Given the description of an element on the screen output the (x, y) to click on. 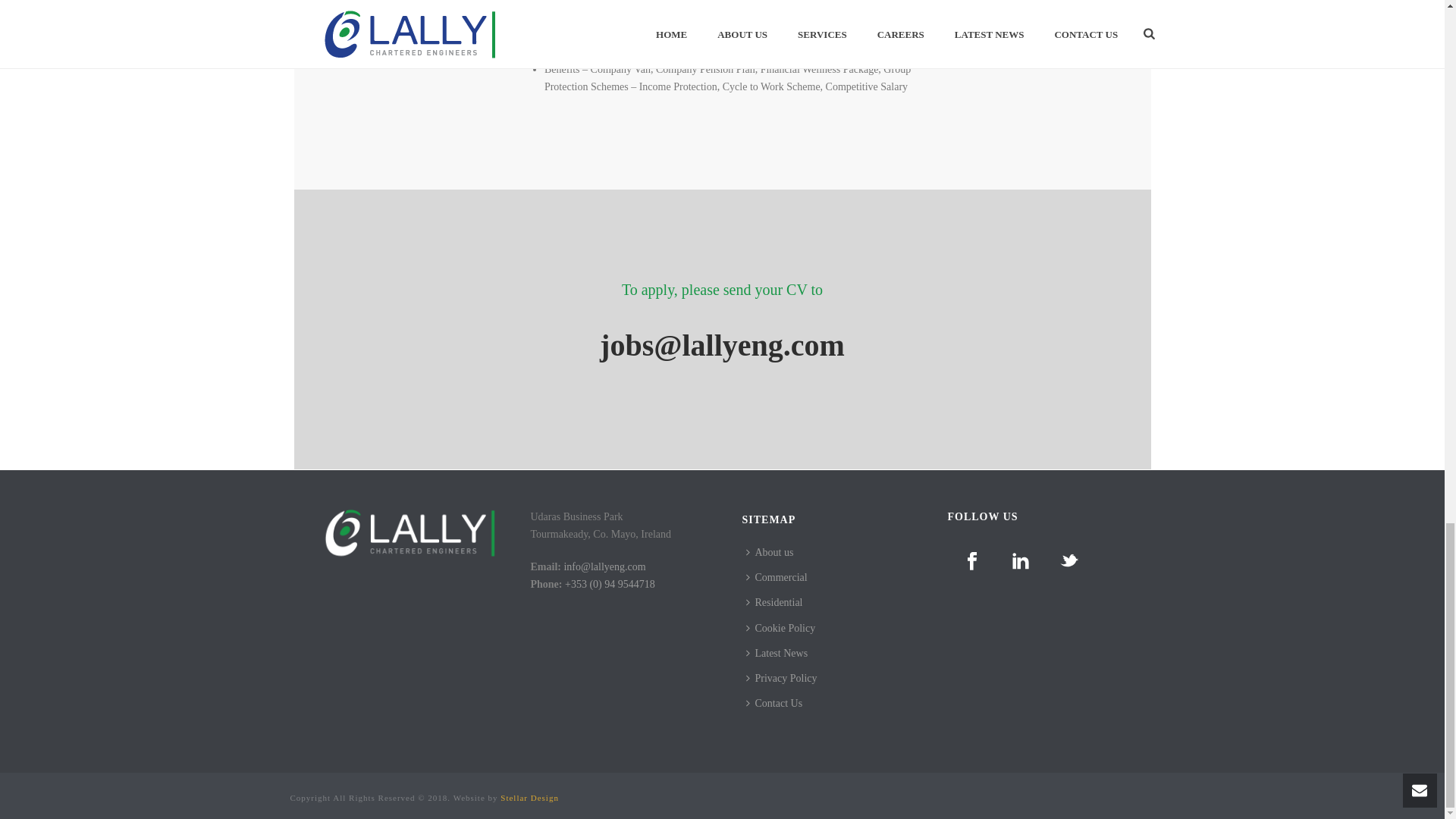
Commercial (779, 577)
About us (773, 552)
Residential (777, 602)
Latest News (779, 652)
Stellar Design (529, 797)
Cookie Policy (784, 627)
Contact Us (777, 703)
Privacy Policy (784, 678)
